Given the description of an element on the screen output the (x, y) to click on. 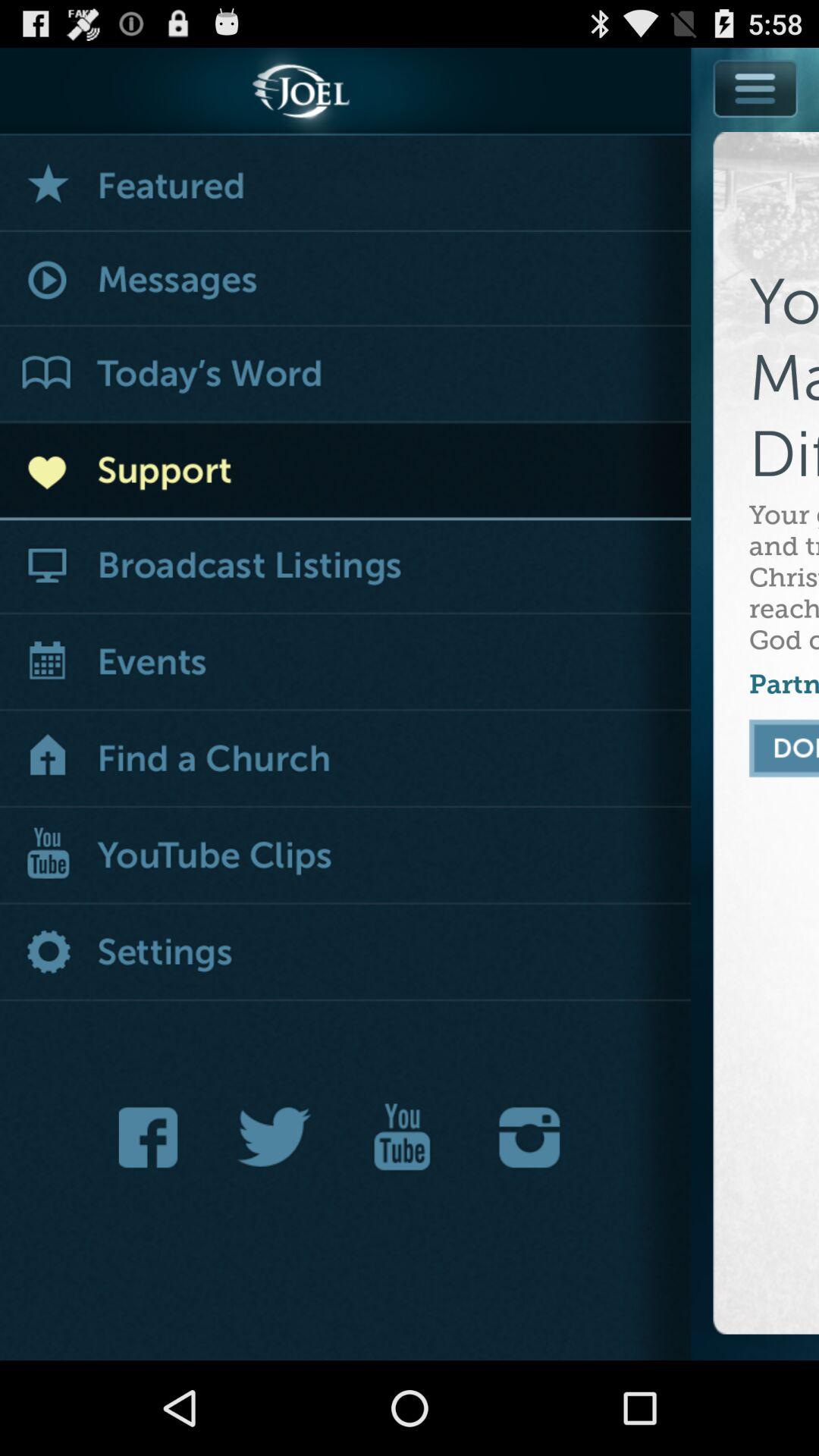
click for support (345, 471)
